Given the description of an element on the screen output the (x, y) to click on. 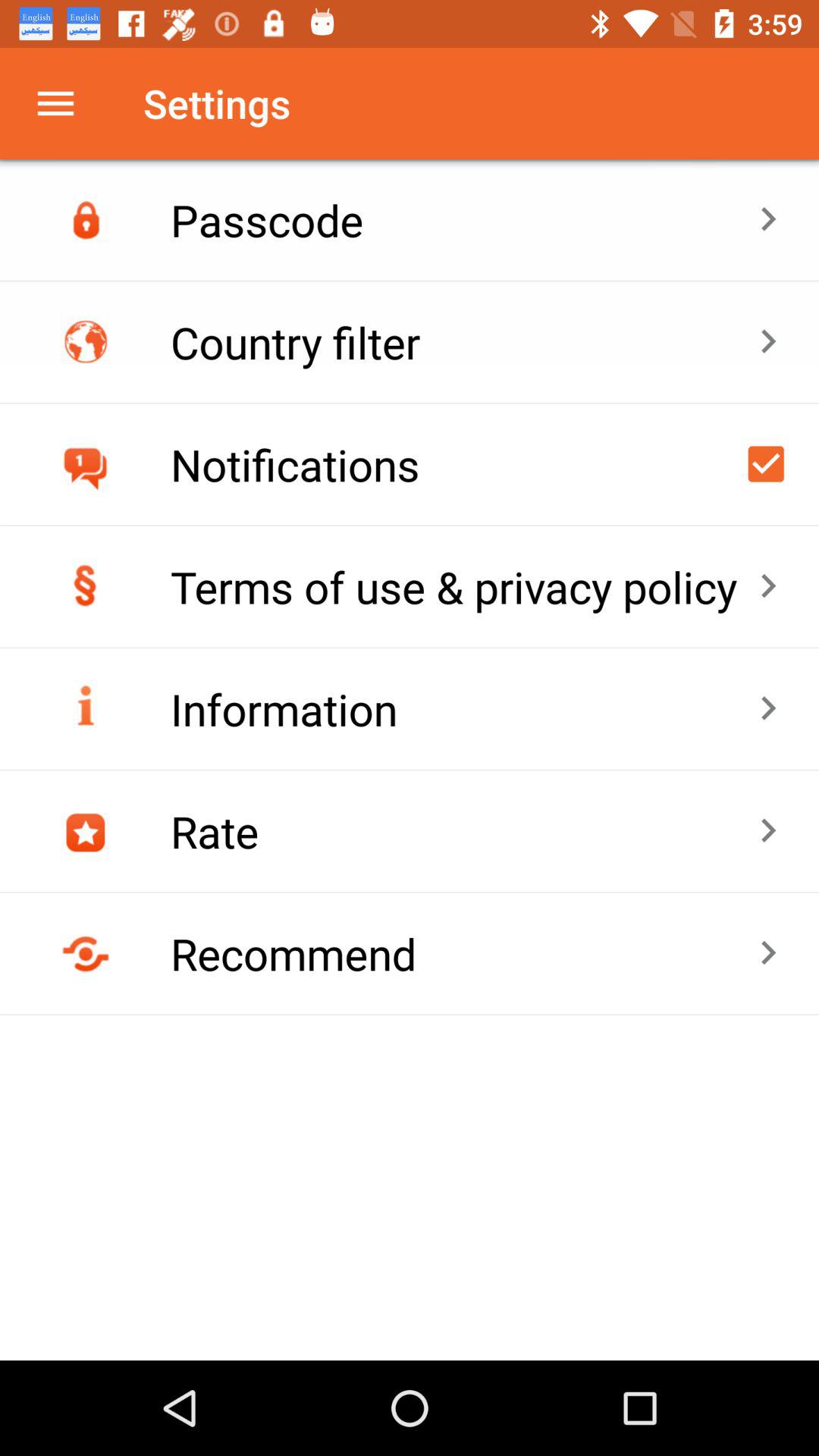
jump to the recommend item (464, 953)
